Given the description of an element on the screen output the (x, y) to click on. 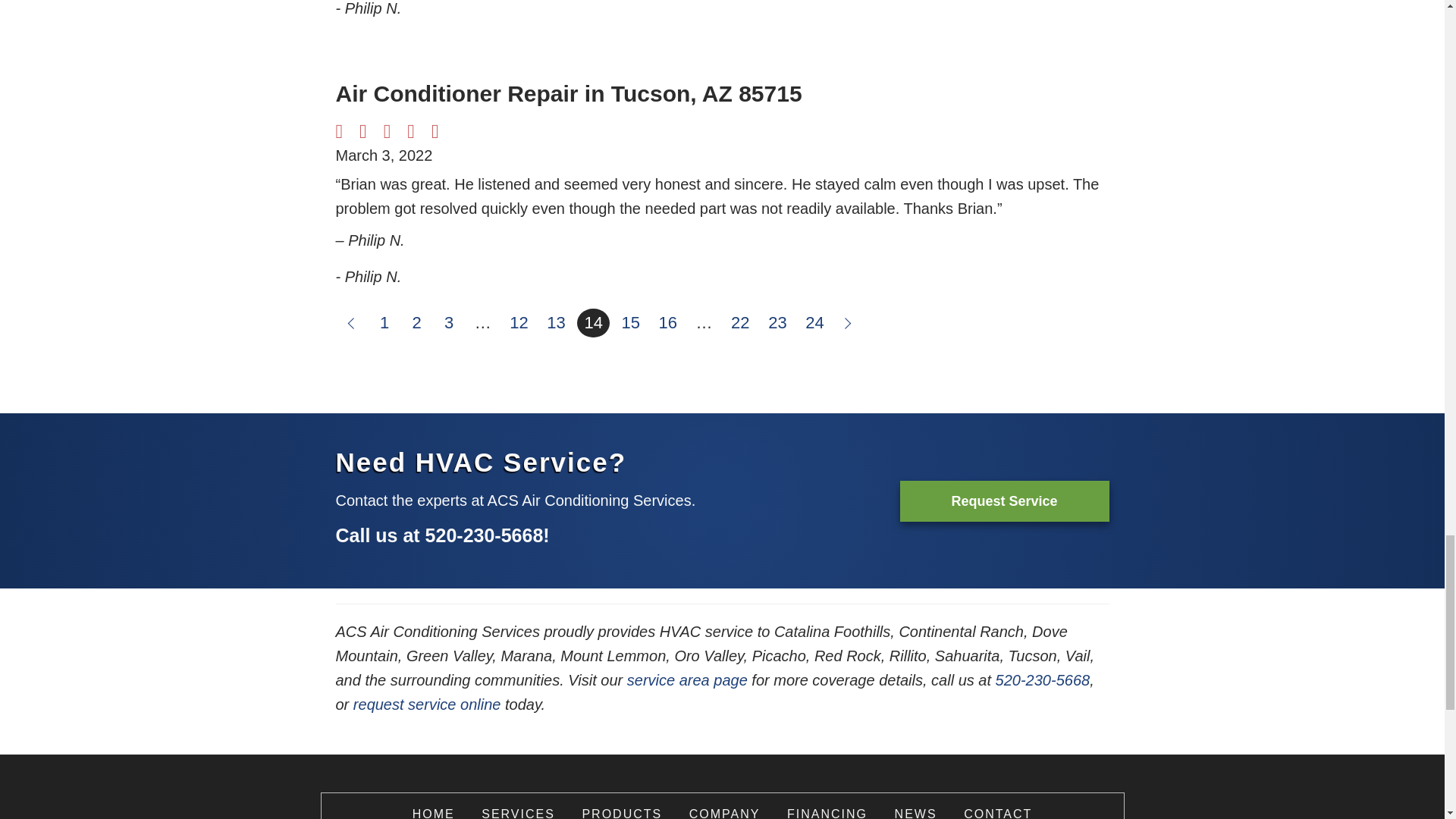
12 (518, 322)
2 (416, 322)
request service online (426, 704)
FINANCING (827, 813)
3 (449, 322)
COMPANY (724, 813)
22 (739, 322)
HOME (433, 813)
SERVICES (517, 813)
PRODUCTS (621, 813)
520-230-5668 (484, 535)
16 (668, 322)
24 (813, 322)
23 (777, 322)
Air Conditioner Repair in Tucson, AZ 85715 (568, 93)
